Given the description of an element on the screen output the (x, y) to click on. 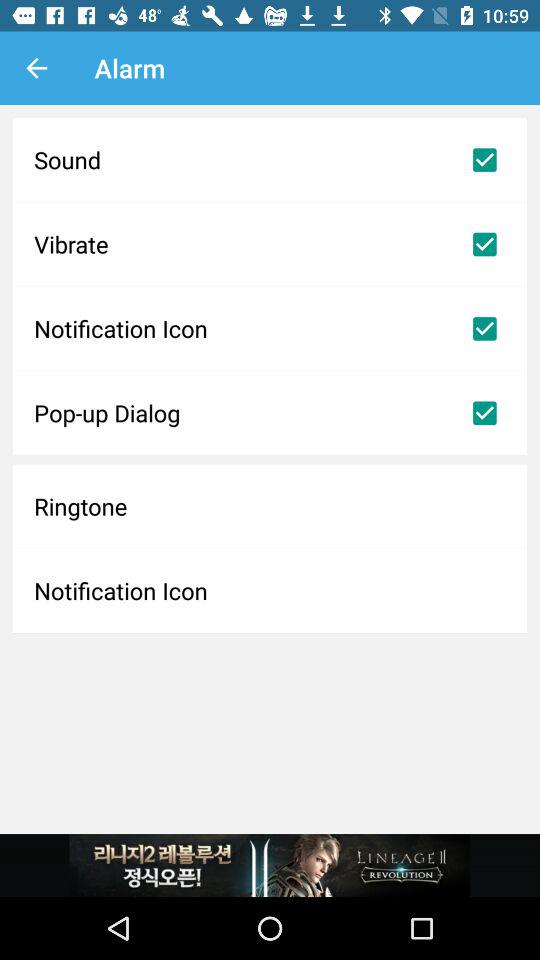
press the item below sound item (269, 244)
